Given the description of an element on the screen output the (x, y) to click on. 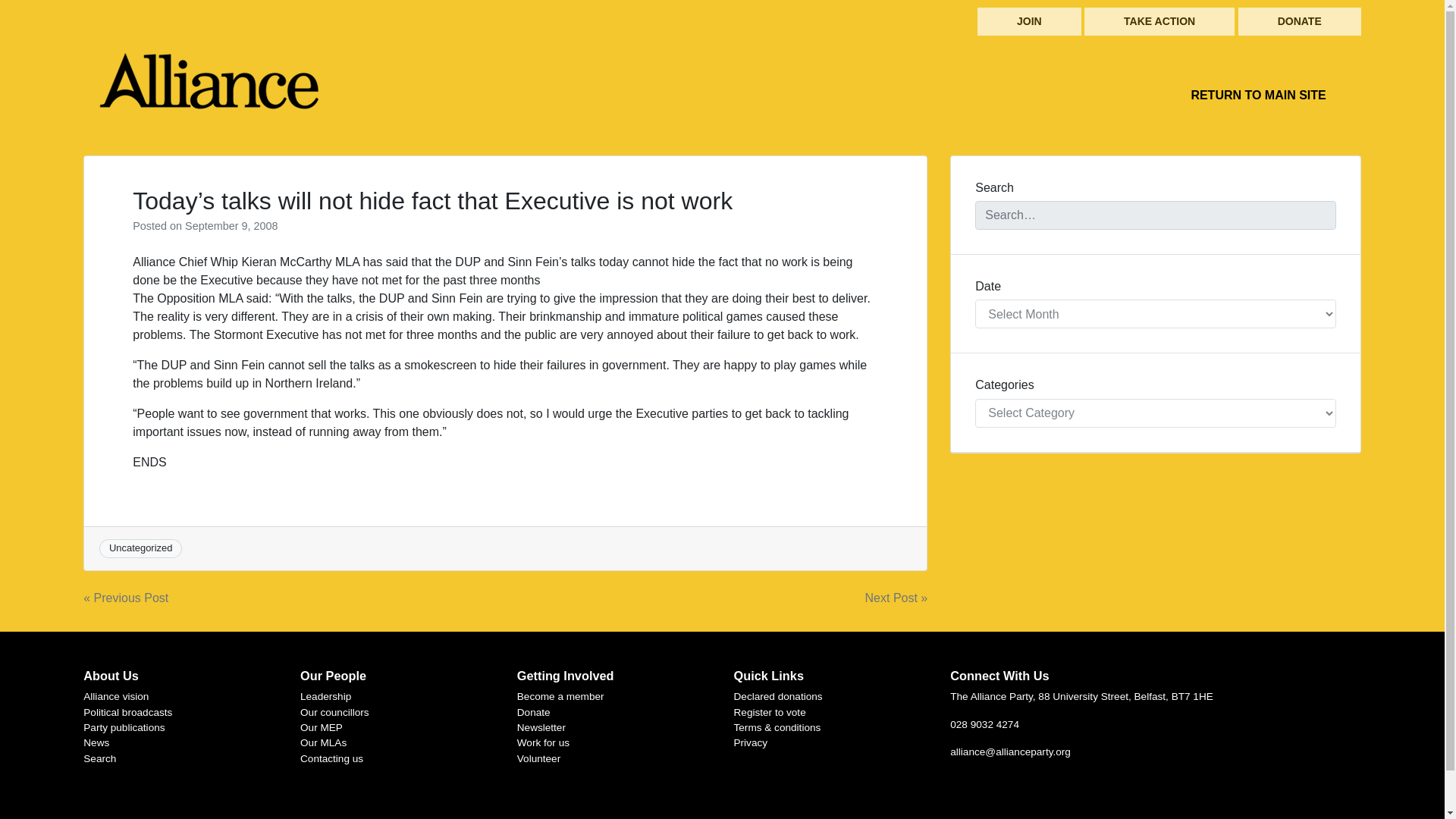
Volunteer (538, 758)
Work for us (542, 742)
Our MLAs (322, 742)
Our MEP (320, 727)
Privacy (750, 742)
TAKE ACTION (1159, 21)
Search (99, 758)
Leadership (324, 696)
Newsletter (541, 727)
Contacting us (330, 758)
